Given the description of an element on the screen output the (x, y) to click on. 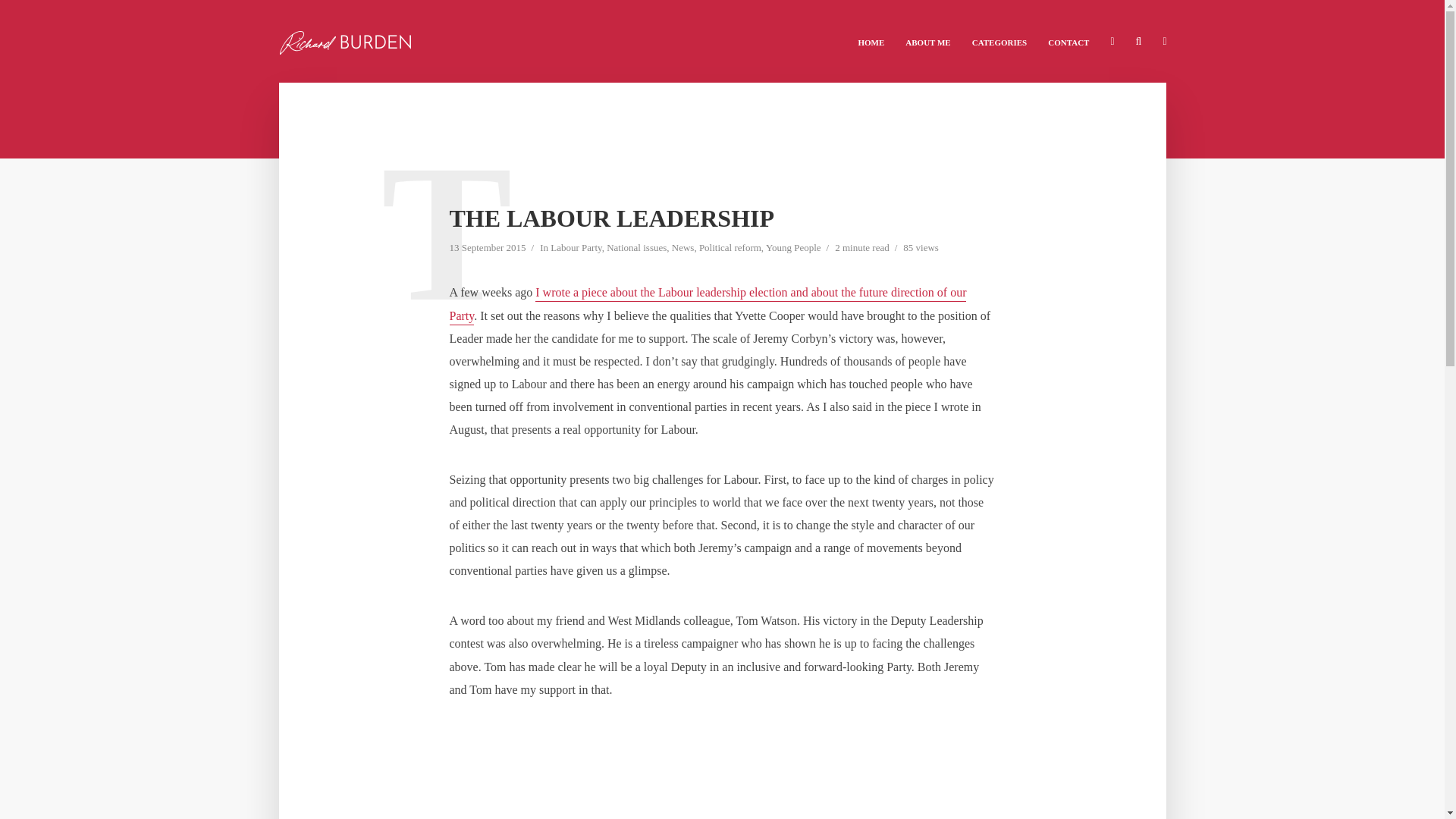
National issues (636, 248)
CATEGORIES (999, 41)
CONTACT (1067, 41)
HOME (871, 41)
Labour Party (575, 248)
Political reform (729, 248)
ABOUT ME (927, 41)
Young People (793, 248)
News (682, 248)
